Given the description of an element on the screen output the (x, y) to click on. 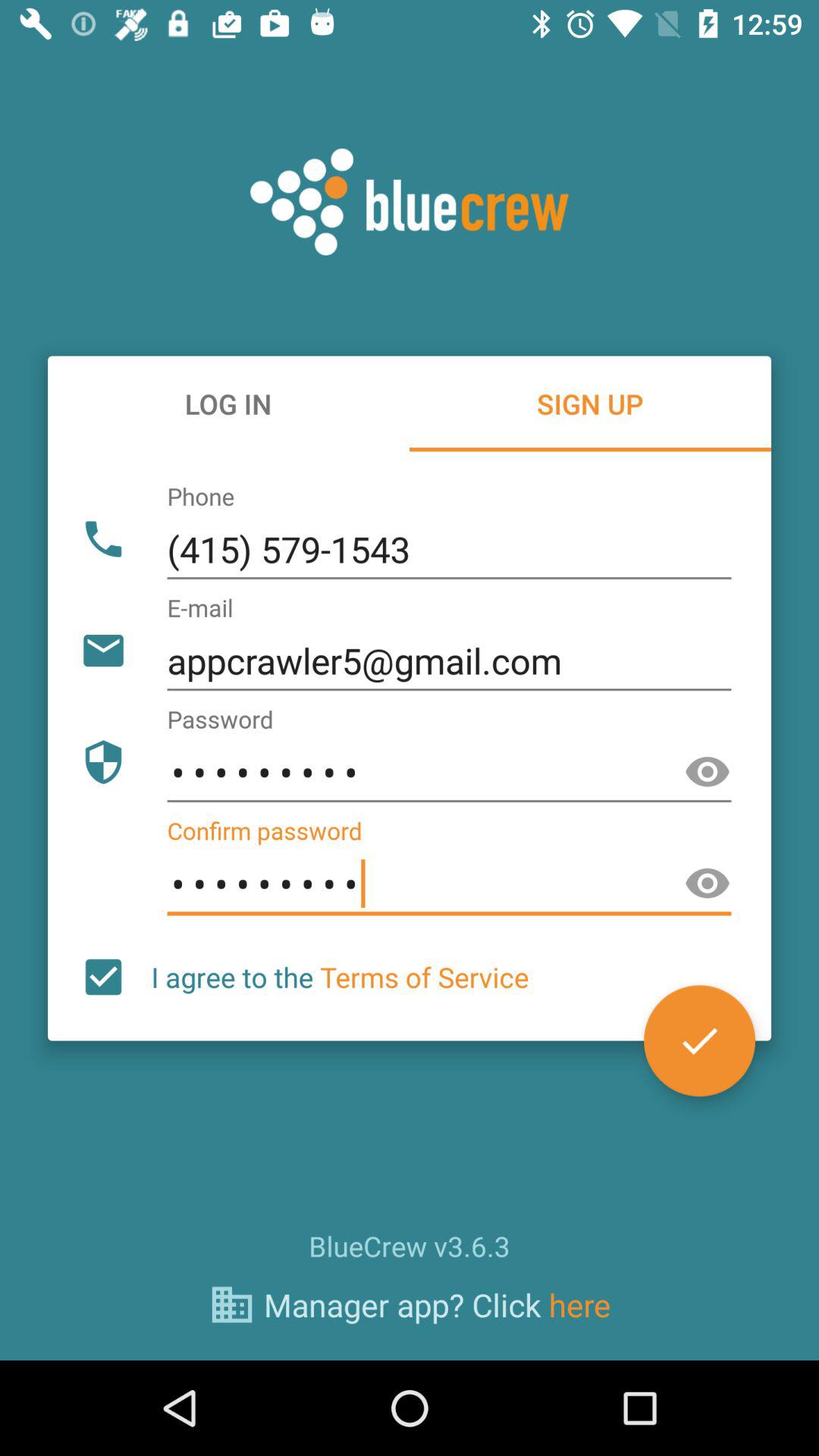
view the password that has been entered (707, 772)
